Given the description of an element on the screen output the (x, y) to click on. 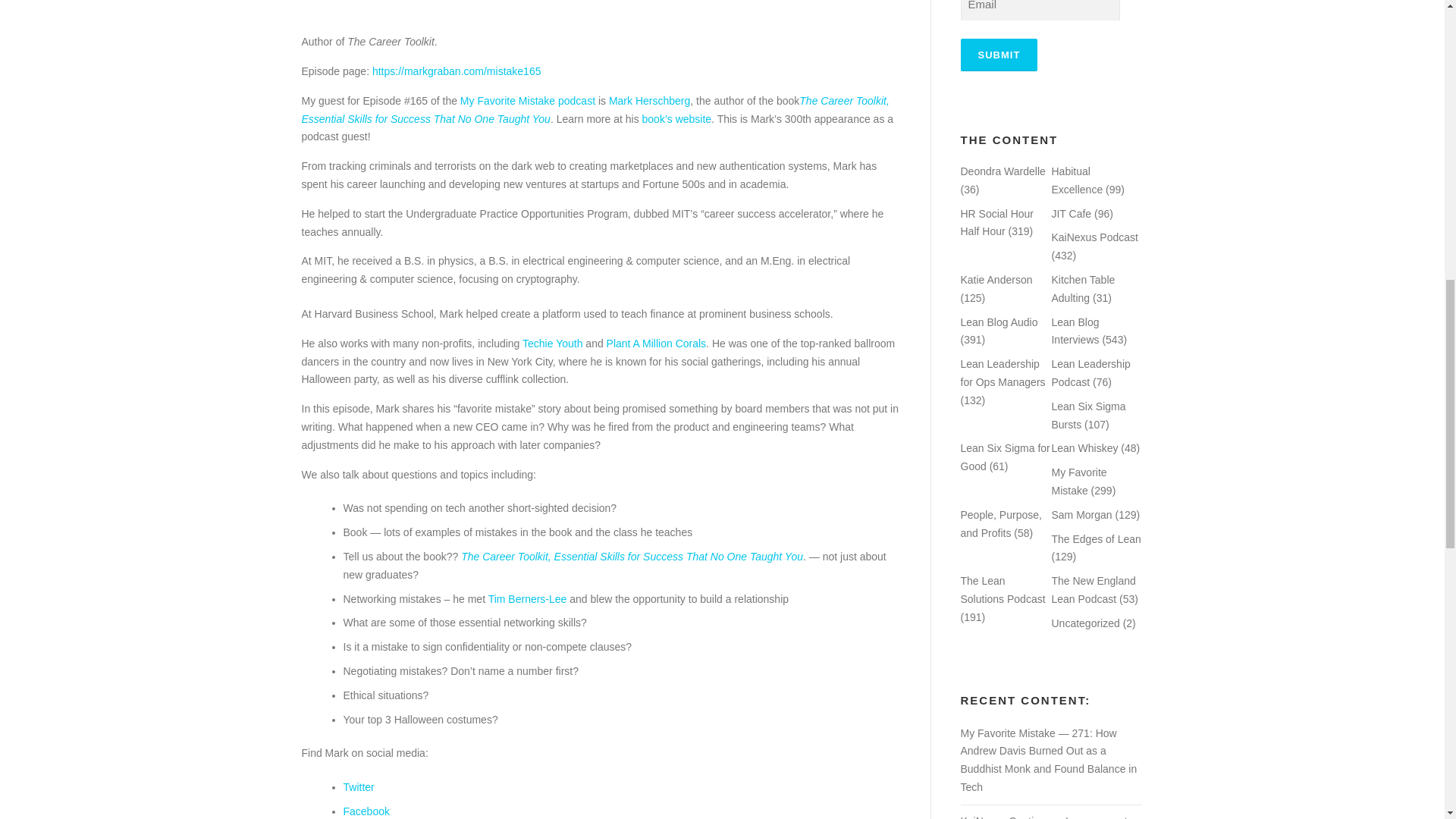
Lean Blog Interviews (1075, 331)
Tim Berners-Lee (527, 598)
Habitual Excellence (1076, 180)
My Favorite Mistake podcast (527, 101)
Techie Youth (552, 343)
Submit (997, 54)
Katie Anderson (995, 279)
Kitchen Table Adulting (1083, 288)
Deondra Wardelle (1002, 171)
